Given the description of an element on the screen output the (x, y) to click on. 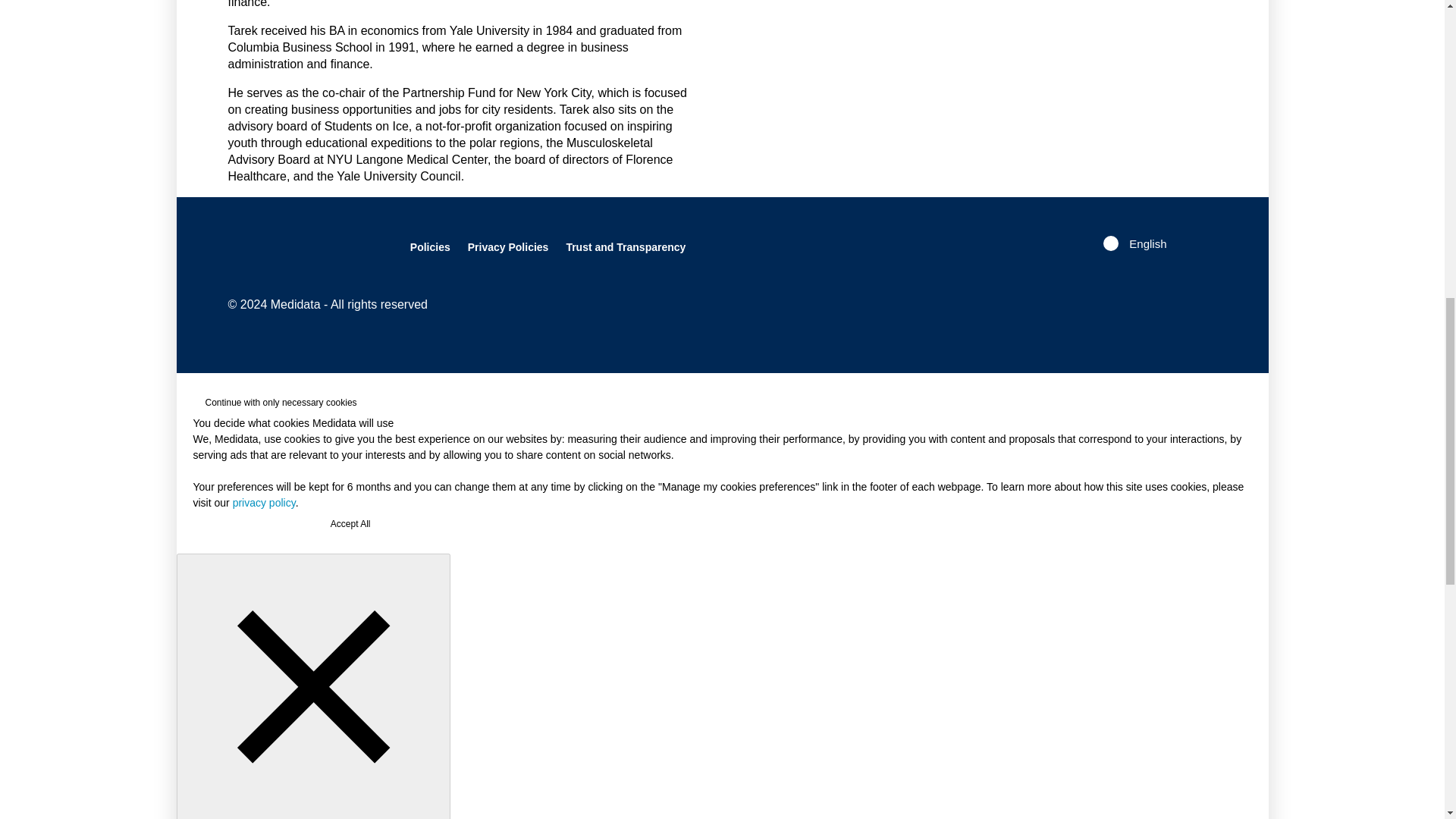
Medidata (291, 247)
